Given the description of an element on the screen output the (x, y) to click on. 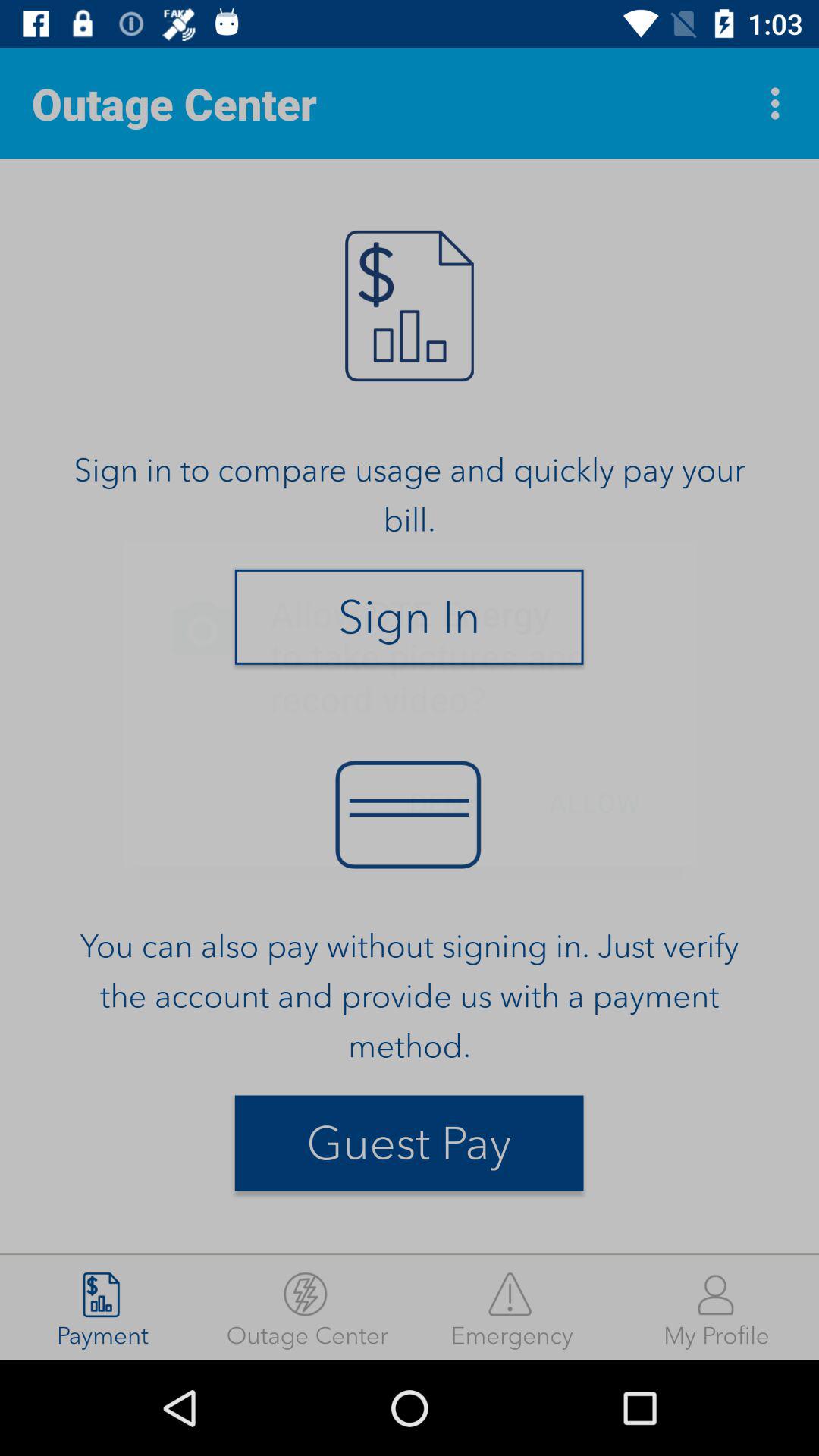
open app to the right of the outage center app (779, 103)
